Given the description of an element on the screen output the (x, y) to click on. 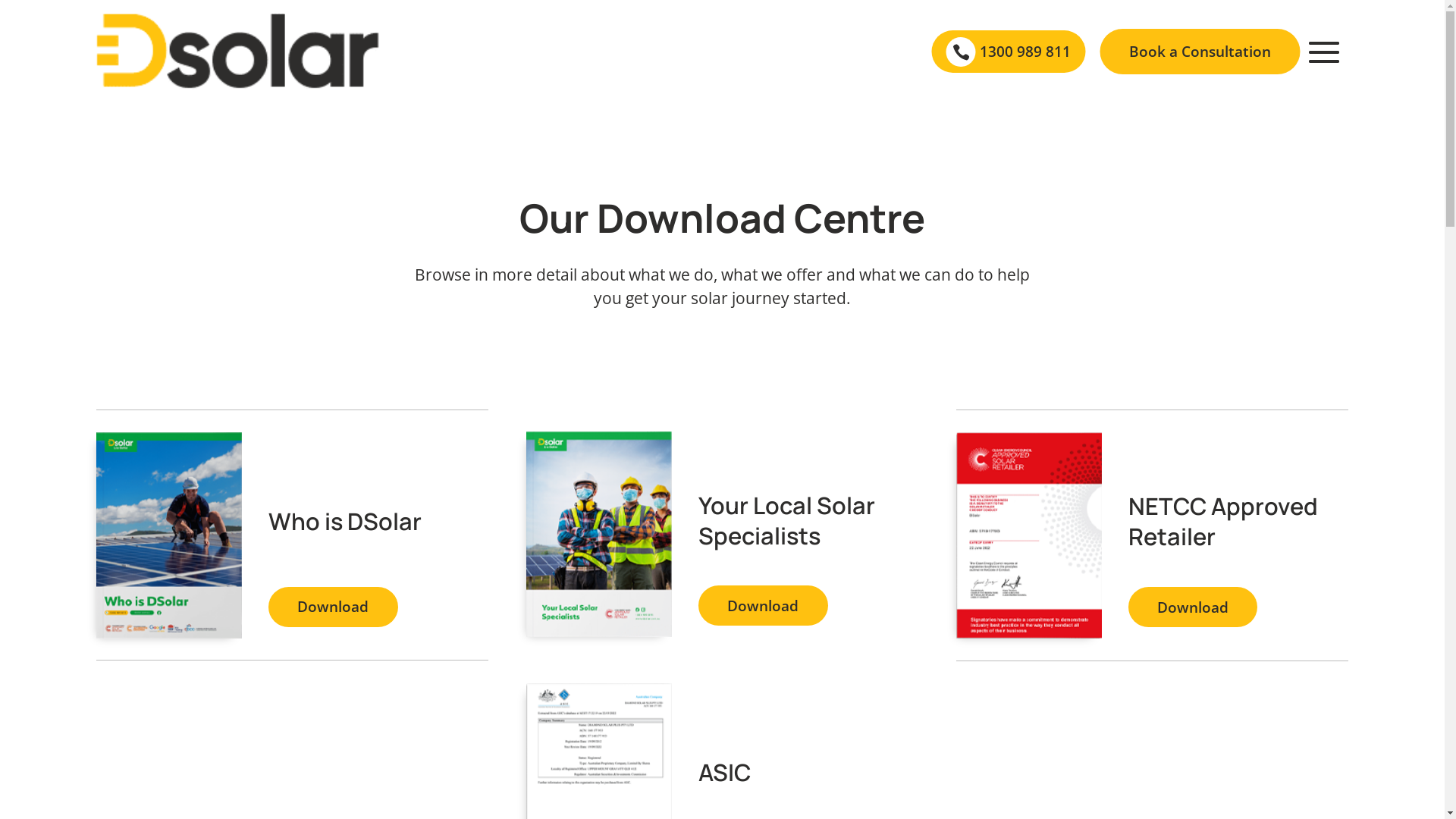
Download Element type: text (333, 606)
Your Local Solar Specialists Element type: text (786, 520)
ASIC Element type: text (724, 771)
Download Element type: text (1193, 606)
NETCC Approved Retailer Element type: text (1222, 520)
1300 989 811 Element type: text (1024, 50)
Download Element type: text (763, 605)
Who is DSolar Element type: text (344, 520)
Black logo Element type: hover (237, 51)
Book a Consultation Element type: text (1199, 51)
